Given the description of an element on the screen output the (x, y) to click on. 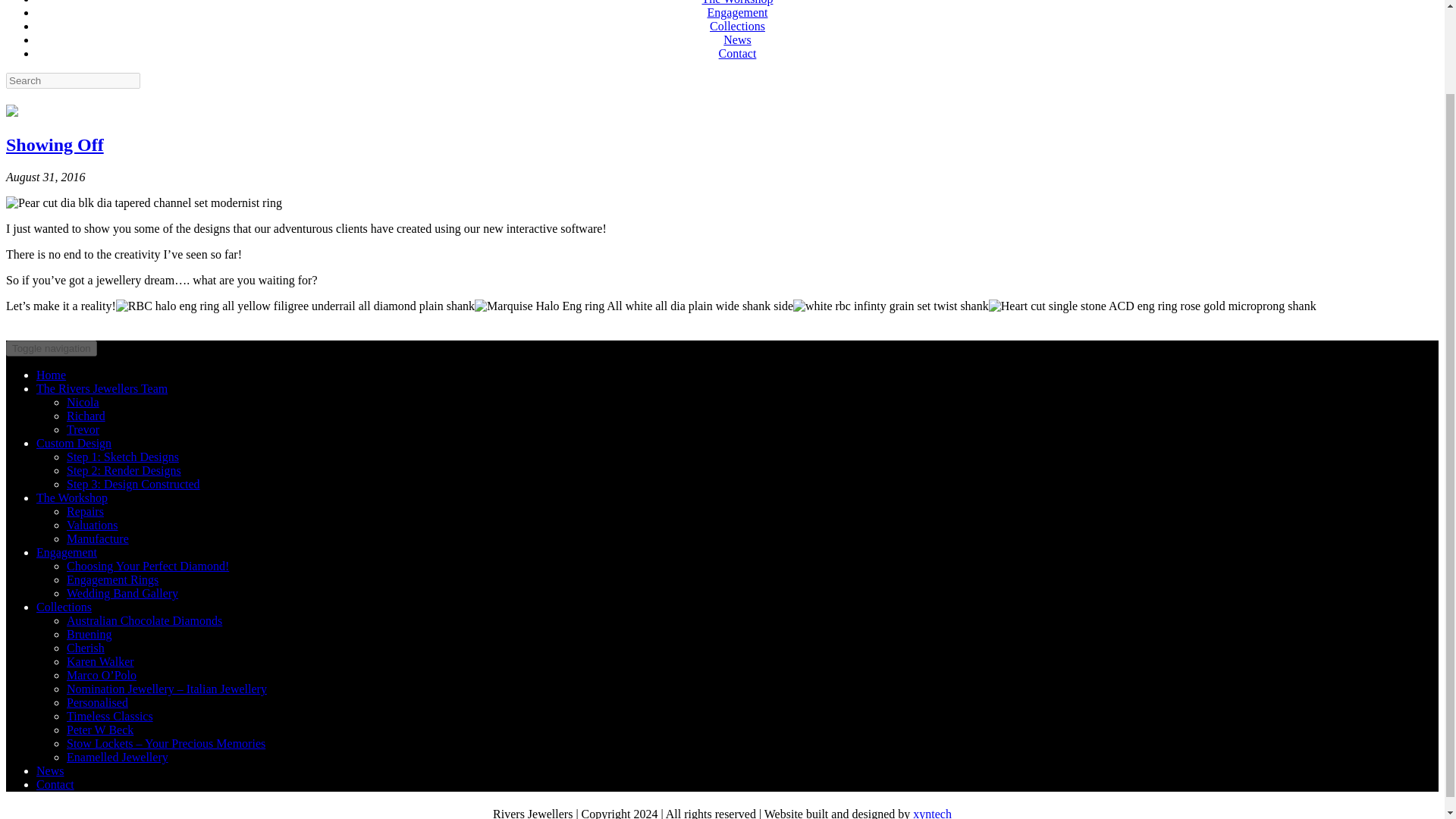
Step 1: Sketch Designs (122, 456)
Karen Walker (99, 661)
Nicola (82, 401)
Timeless Classics (109, 716)
Repairs (84, 511)
Custom Design (74, 442)
News (737, 39)
Valuations (91, 524)
Step 2: Render Designs (123, 470)
The Workshop (737, 2)
Engagement (66, 552)
Richard (85, 415)
Collections (737, 25)
Step 3: Design Constructed (133, 483)
Showing Off (54, 144)
